Given the description of an element on the screen output the (x, y) to click on. 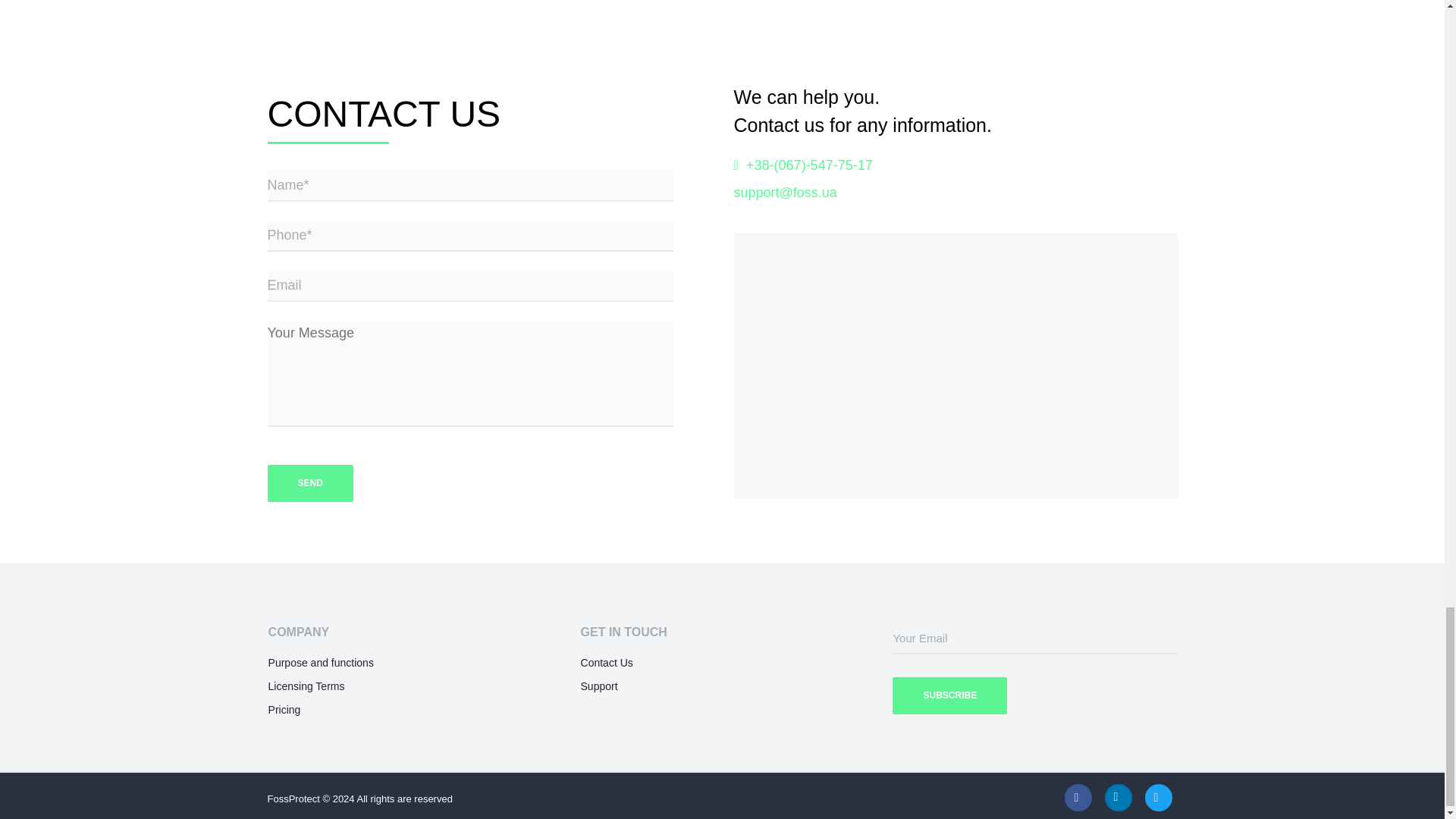
Send (309, 483)
Purpose and functions (320, 662)
Send (309, 483)
Subscribe (949, 695)
